Given the description of an element on the screen output the (x, y) to click on. 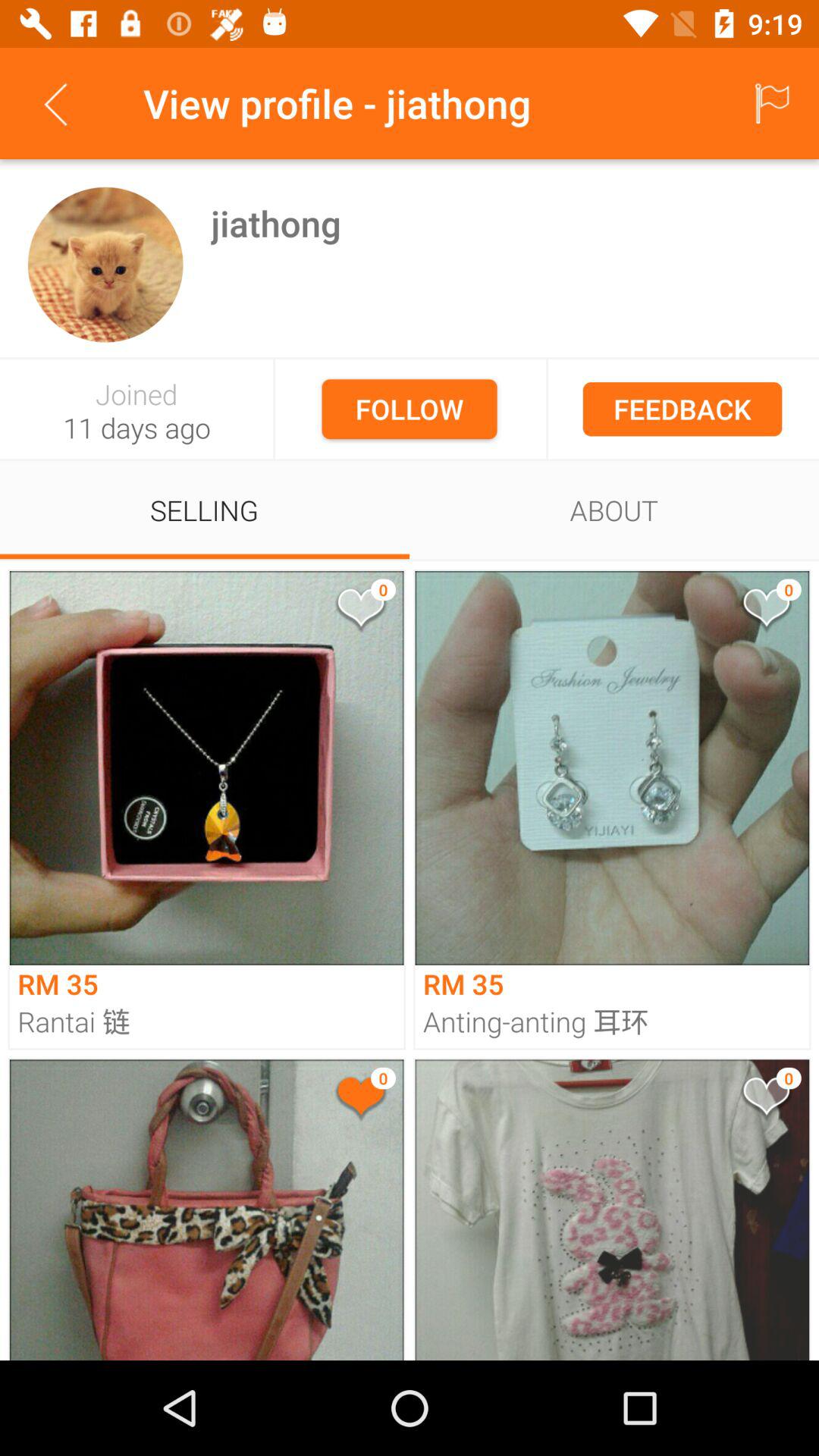
turn on icon next to the jiathong icon (105, 264)
